Given the description of an element on the screen output the (x, y) to click on. 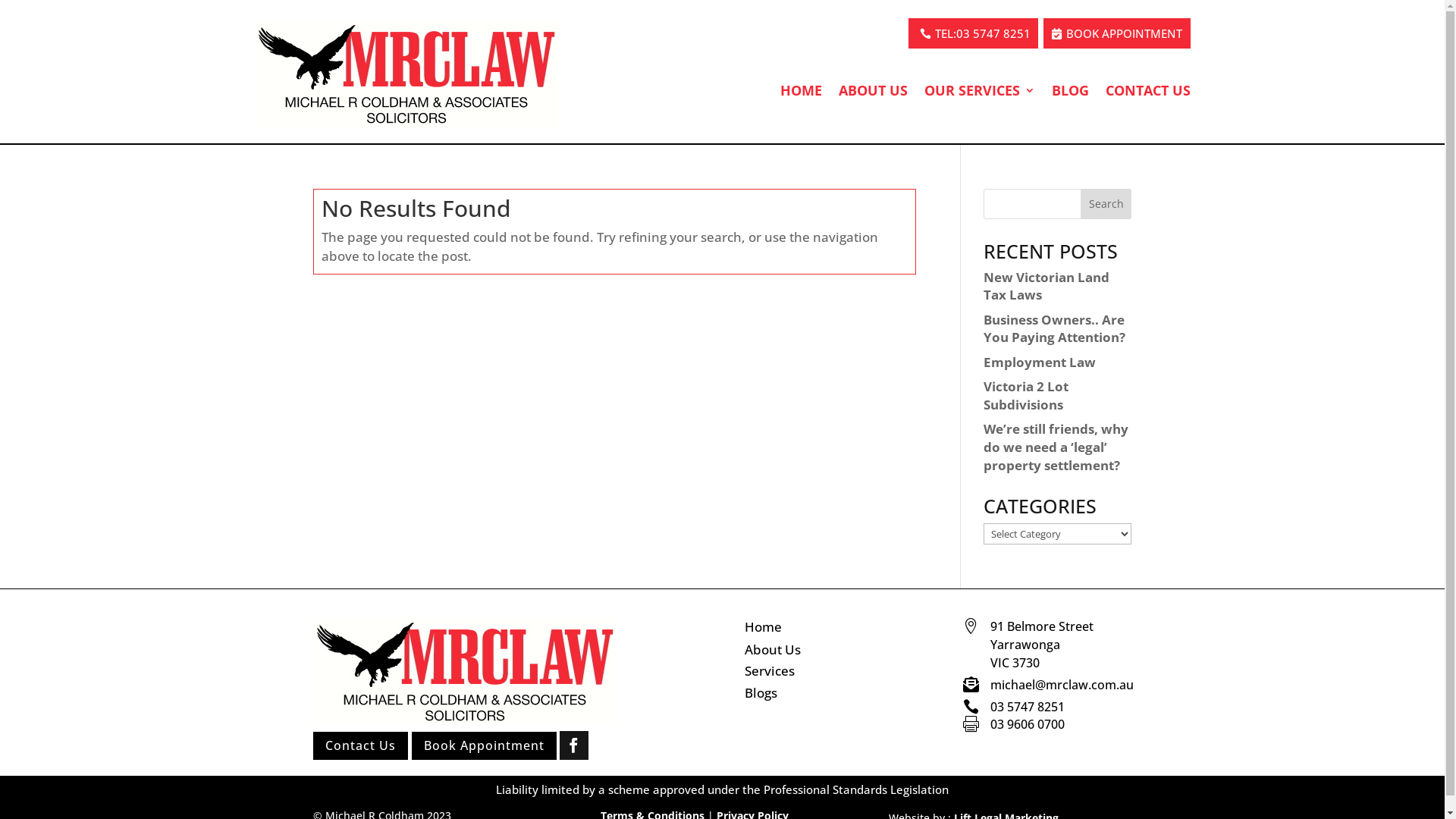
BLOG Element type: text (1069, 90)
Follow on Facebook Element type: hover (573, 745)
HOME Element type: text (785, 78)
Contact Us Element type: text (359, 745)
Business Owners.. Are You Paying Attention? Element type: text (1054, 328)
CONTACT US Element type: text (1147, 90)
ABOUT US Element type: text (872, 90)
Search Element type: text (1106, 203)
03 5747 8251 Element type: text (885, 22)
Victoria 2 Lot Subdivisions Element type: text (1025, 395)
CONTACT US Element type: text (1145, 78)
BOOK APPOINTMENT Element type: text (1116, 34)
ABOUT US Element type: text (858, 78)
New Victorian Land Tax Laws Element type: text (1046, 286)
OUR SERVICES Element type: text (969, 78)
Logo with white background Element type: hover (463, 671)
BOOK APPOINTMENT Element type: text (1116, 22)
OUR SERVICES Element type: text (978, 90)
HOME Element type: text (800, 90)
BLOG Element type: text (1065, 78)
Employment Law Element type: text (1039, 361)
TEL:03 5747 8251 Element type: text (973, 34)
Book Appointment Element type: text (483, 745)
WEB PORTAL Element type: text (991, 22)
